Given the description of an element on the screen output the (x, y) to click on. 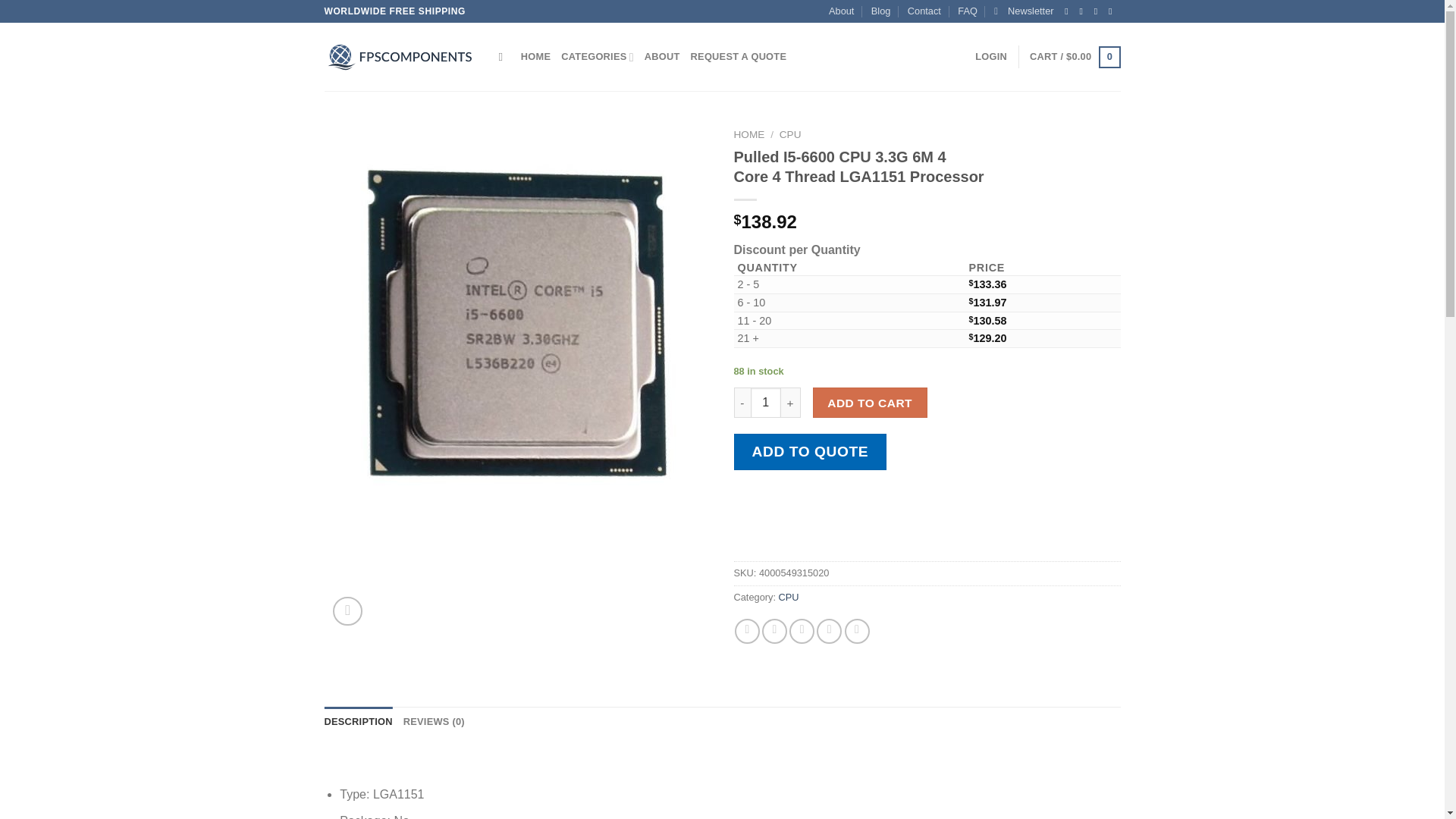
CATEGORIES (596, 56)
- (742, 402)
FAQ (967, 11)
Contact (923, 11)
PayPal (927, 529)
Newsletter (1023, 11)
About (840, 11)
REQUEST A QUOTE (738, 56)
Blog (880, 11)
LOGIN (991, 56)
Follow on Facebook (1069, 10)
ABOUT (662, 56)
1 (765, 402)
